Given the description of an element on the screen output the (x, y) to click on. 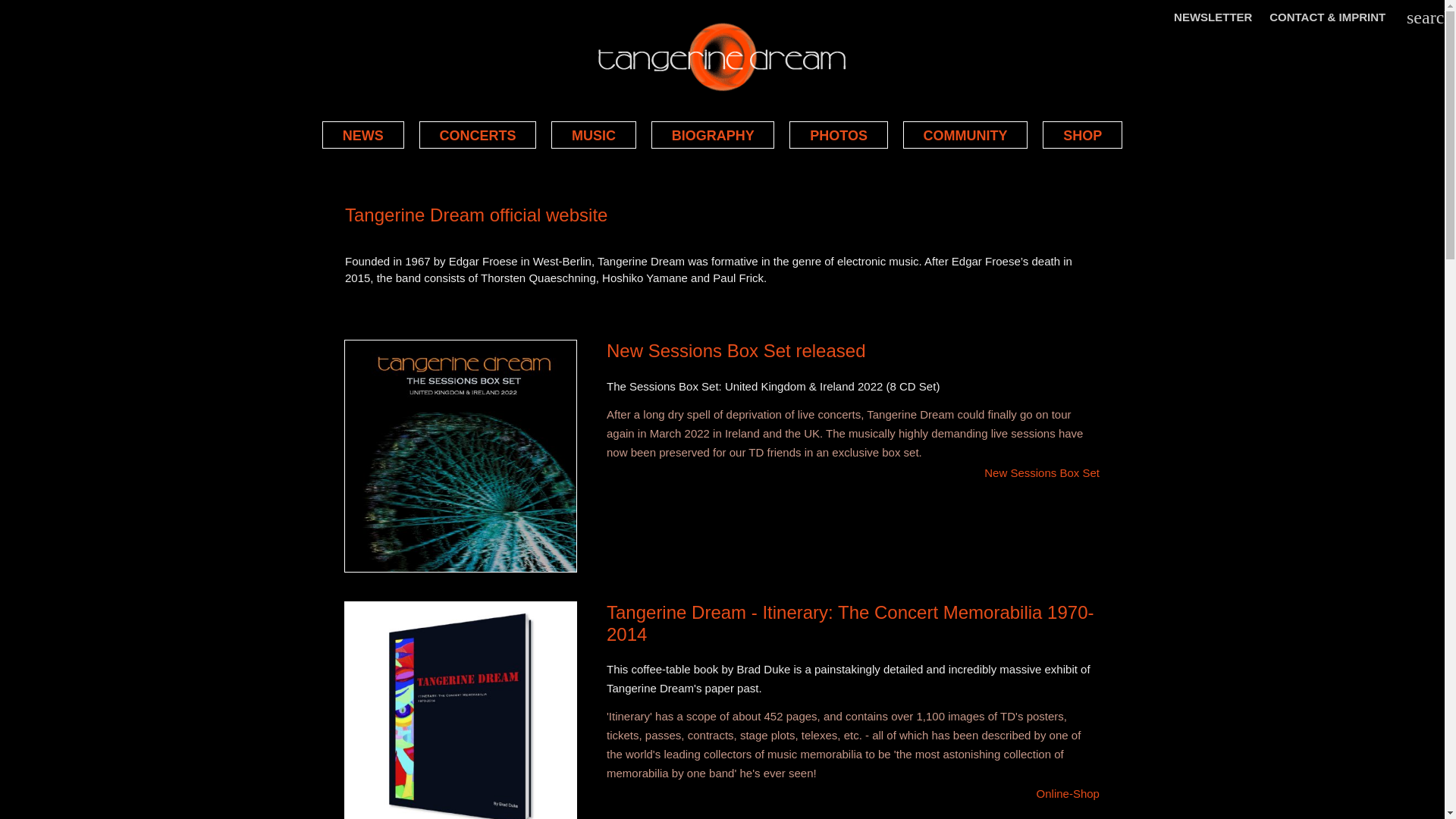
PHOTOS (837, 134)
COMMUNITY (964, 134)
MUSIC (593, 134)
BIOGRAPHY (712, 134)
SHOP (1082, 134)
CONCERTS (478, 134)
NEWSLETTER (1212, 24)
NEWS (362, 134)
